Given the description of an element on the screen output the (x, y) to click on. 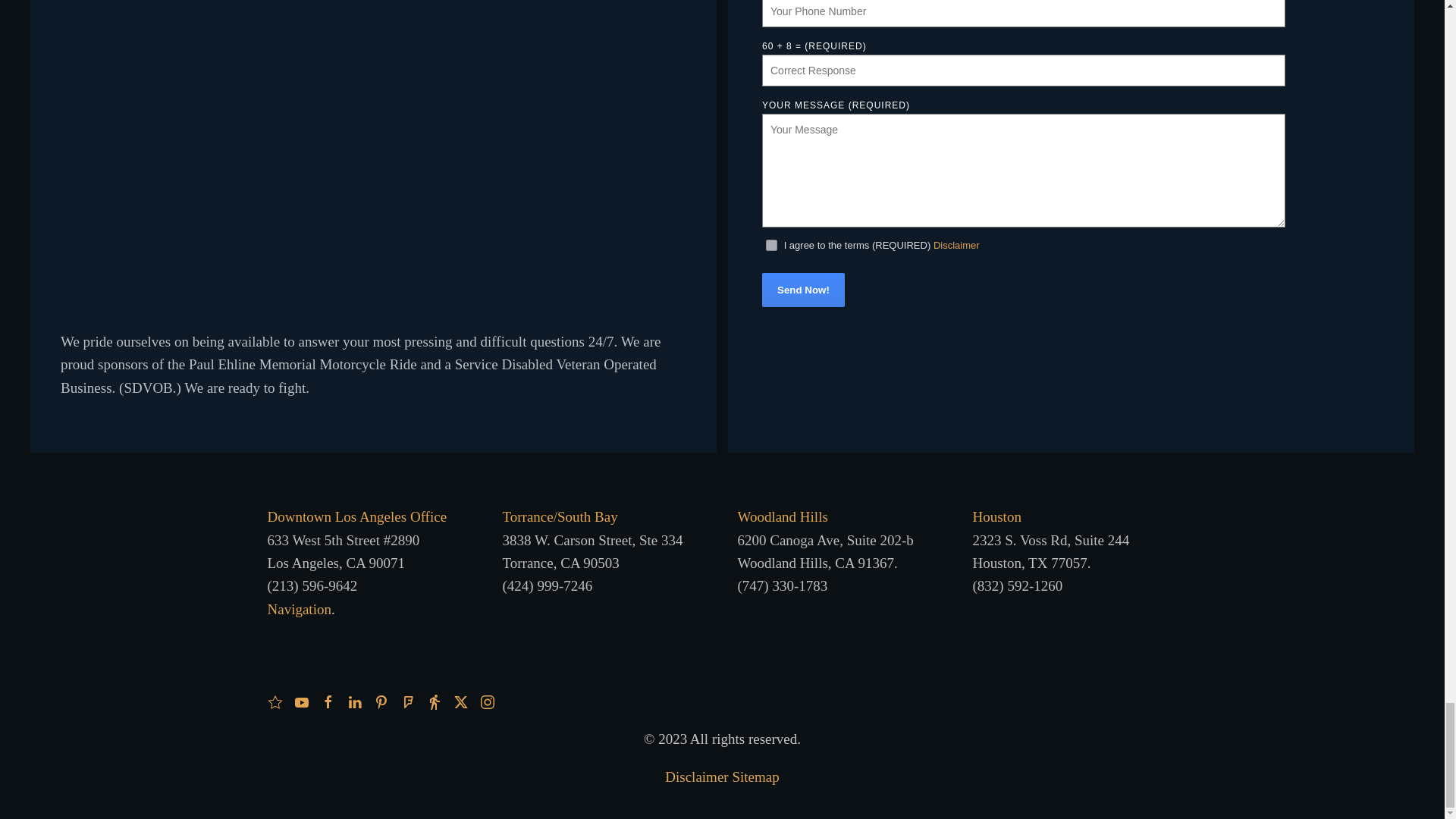
YouTube Channel (301, 700)
Super Lawyers Profile (274, 700)
